Given the description of an element on the screen output the (x, y) to click on. 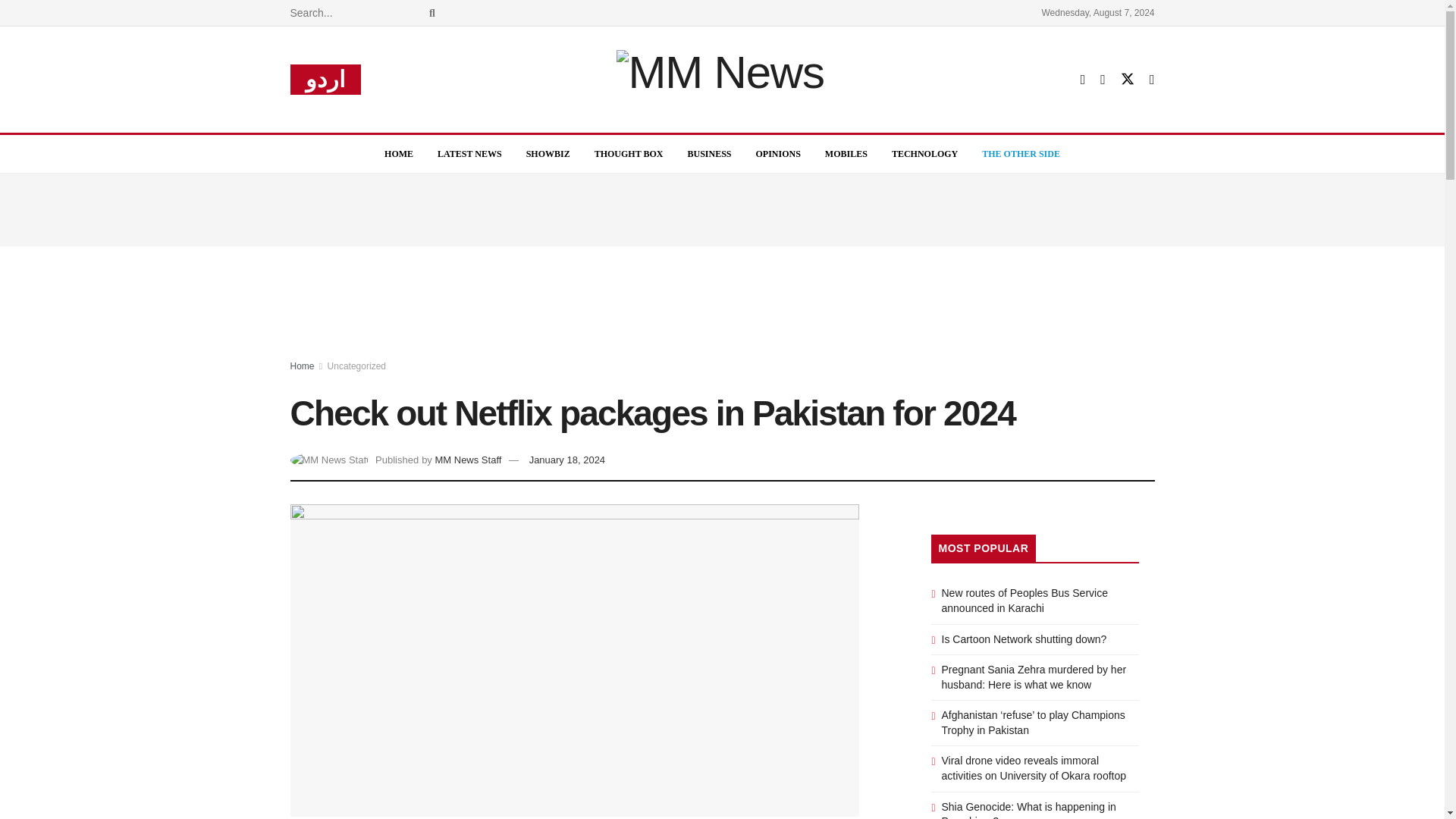
OPINIONS (778, 153)
THOUGHT BOX (628, 153)
BUSINESS (708, 153)
LATEST NEWS (469, 153)
THE OTHER SIDE (1020, 153)
SHOWBIZ (547, 153)
TECHNOLOGY (924, 153)
MOBILES (845, 153)
HOME (398, 153)
